Given the description of an element on the screen output the (x, y) to click on. 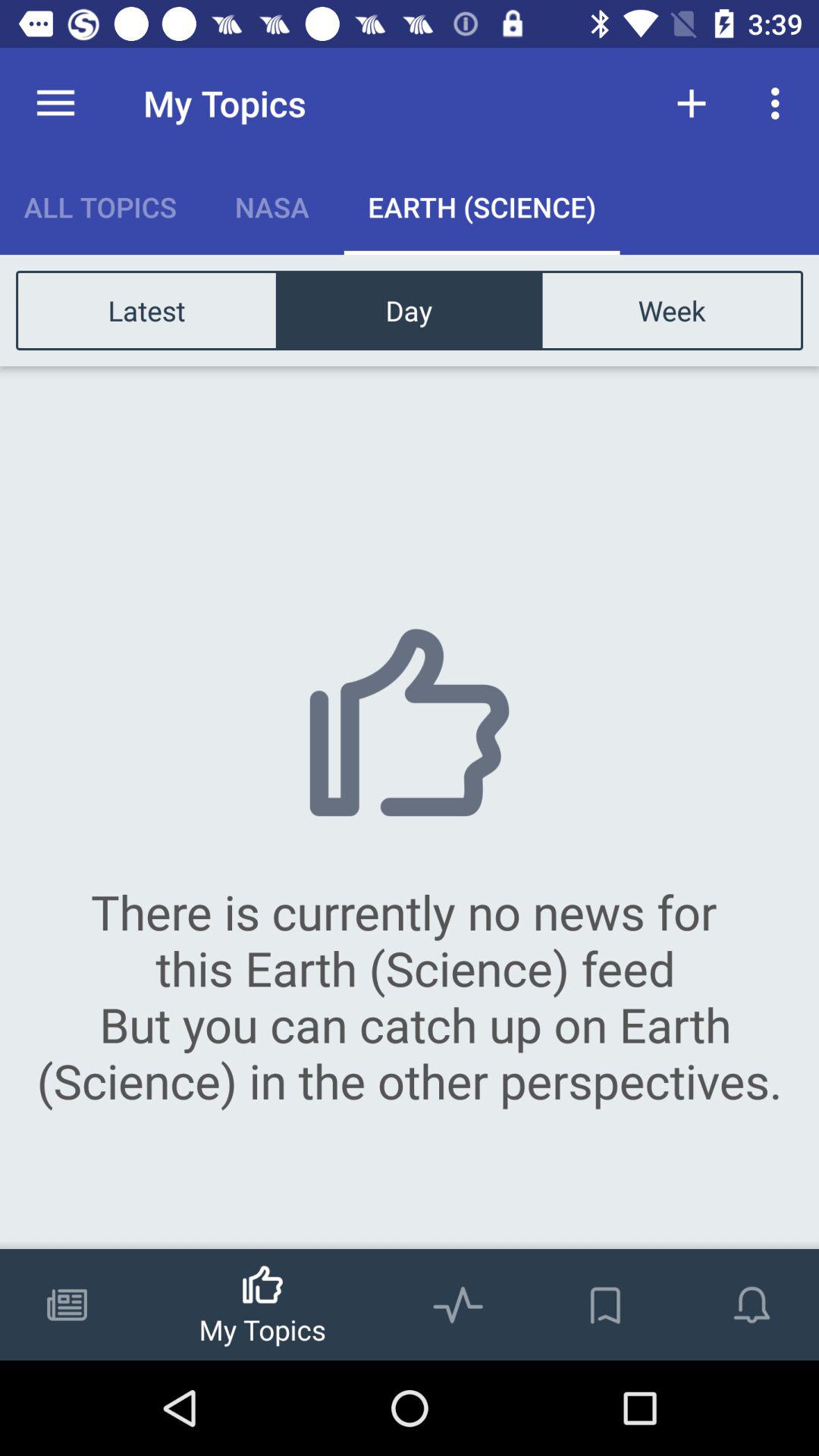
turn on the item to the right of the my topics item (691, 103)
